Given the description of an element on the screen output the (x, y) to click on. 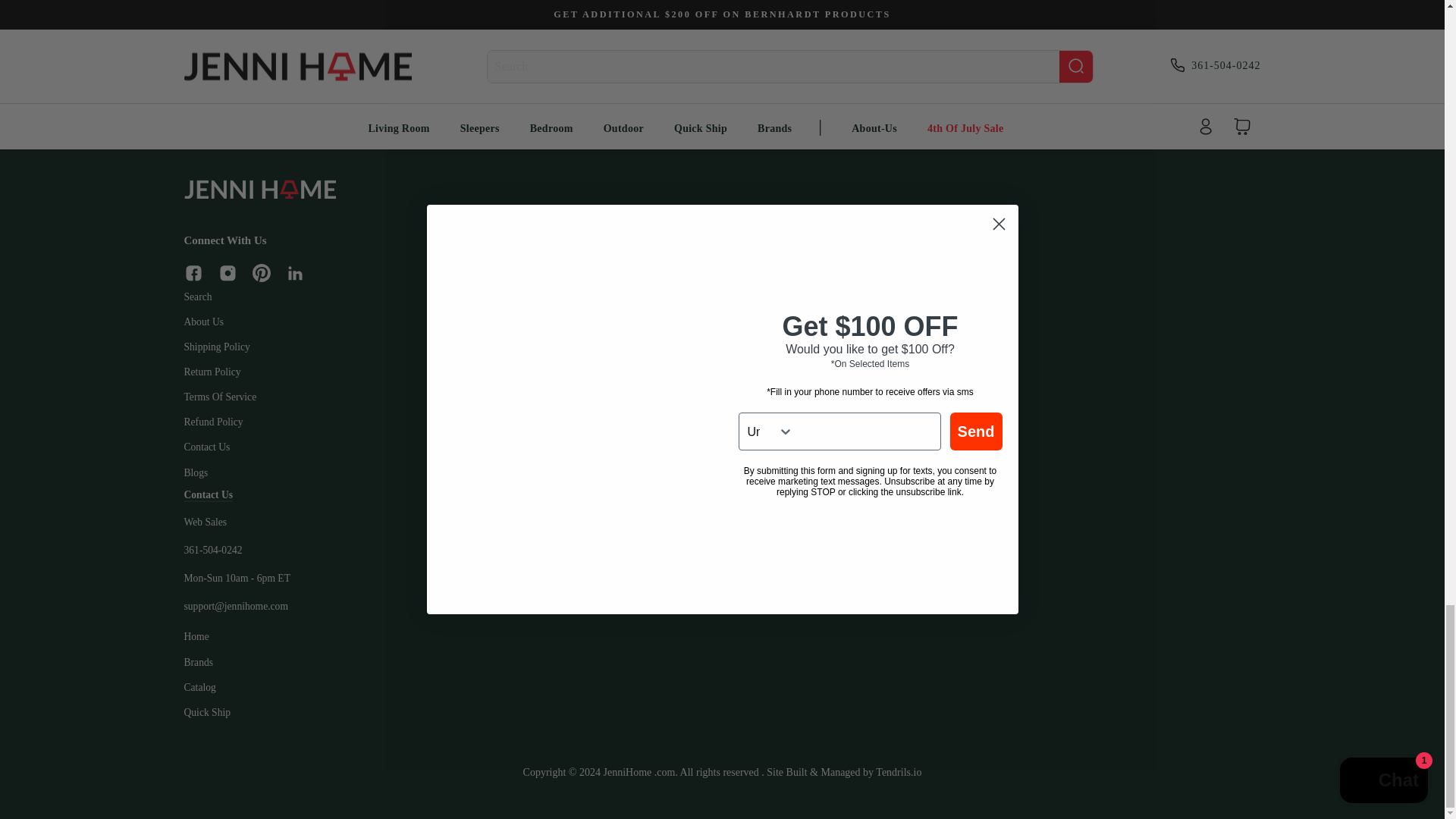
JenniHome on Instagram (227, 272)
JenniHome on Pinterest (260, 272)
JenniHome on Facebook (192, 272)
